Given the description of an element on the screen output the (x, y) to click on. 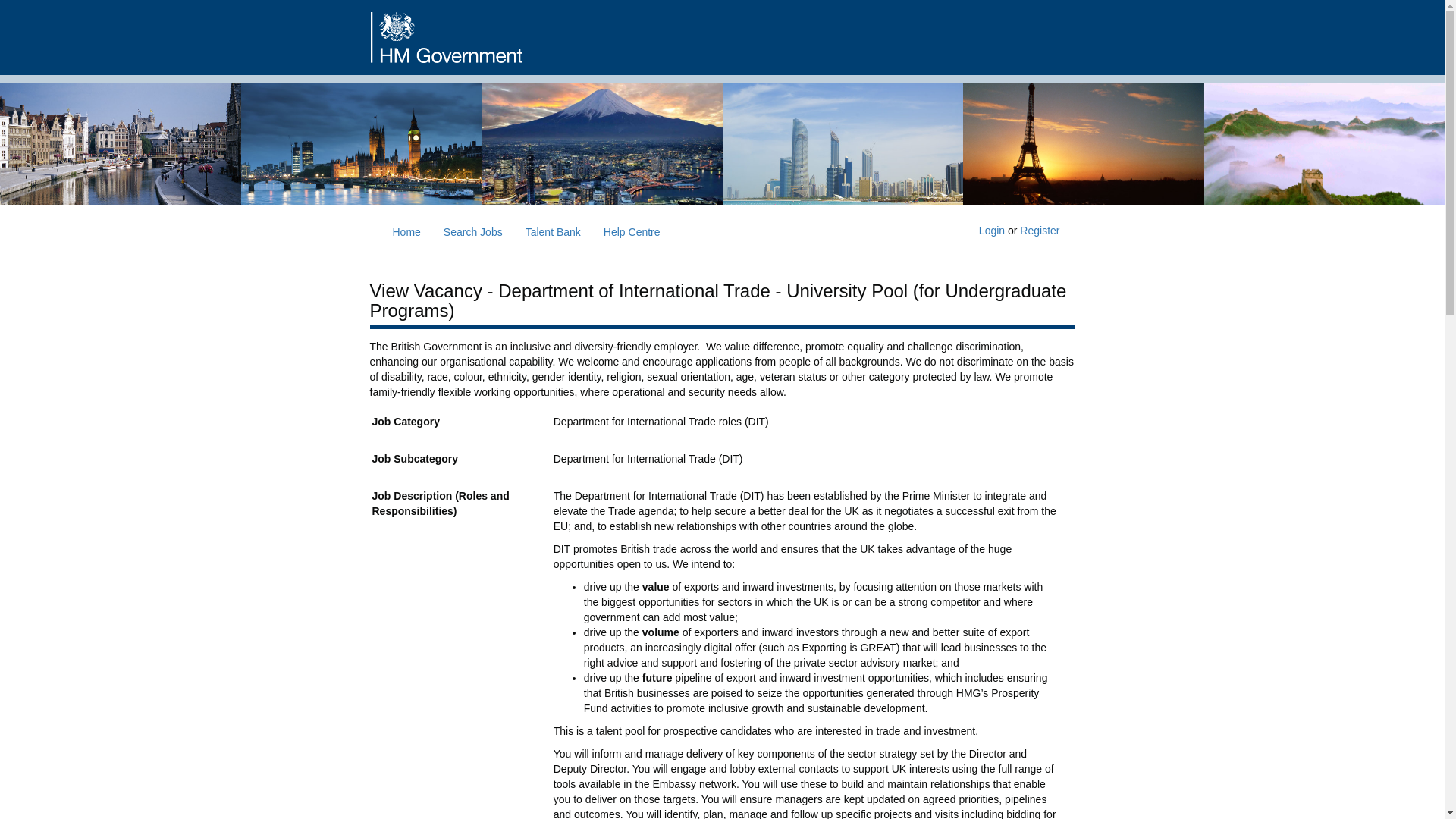
Register (1039, 230)
Home (405, 231)
Help Centre (631, 231)
Login (991, 230)
Search Jobs (472, 231)
Talent Bank (552, 231)
